Given the description of an element on the screen output the (x, y) to click on. 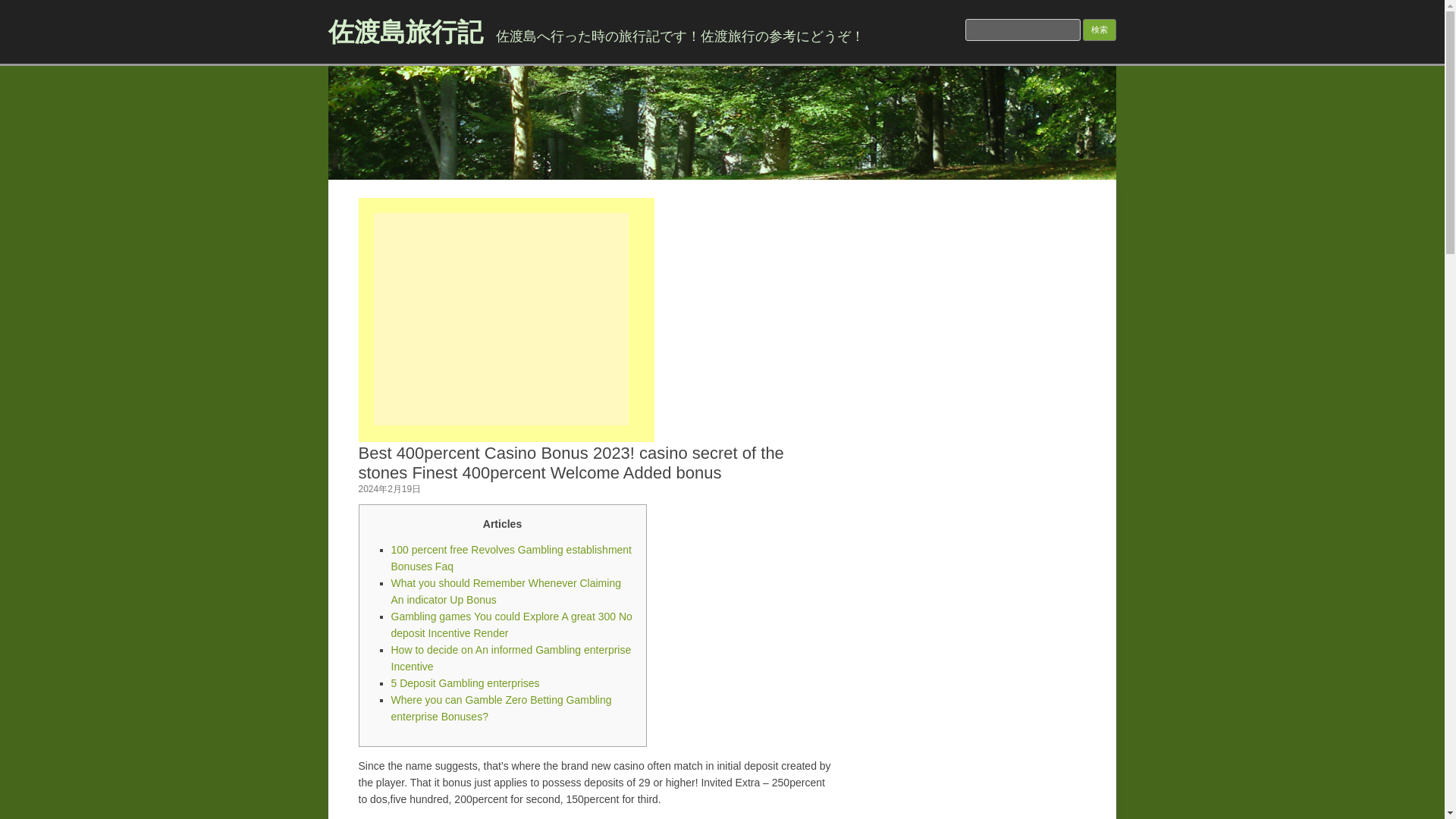
Skip to content (757, 184)
How to decide on An informed Gambling enterprise Incentive (511, 657)
100 percent free Revolves Gambling establishment Bonuses Faq (511, 557)
Skip to content (757, 184)
5 Deposit Gambling enterprises (465, 683)
12:47 PM (389, 489)
